Given the description of an element on the screen output the (x, y) to click on. 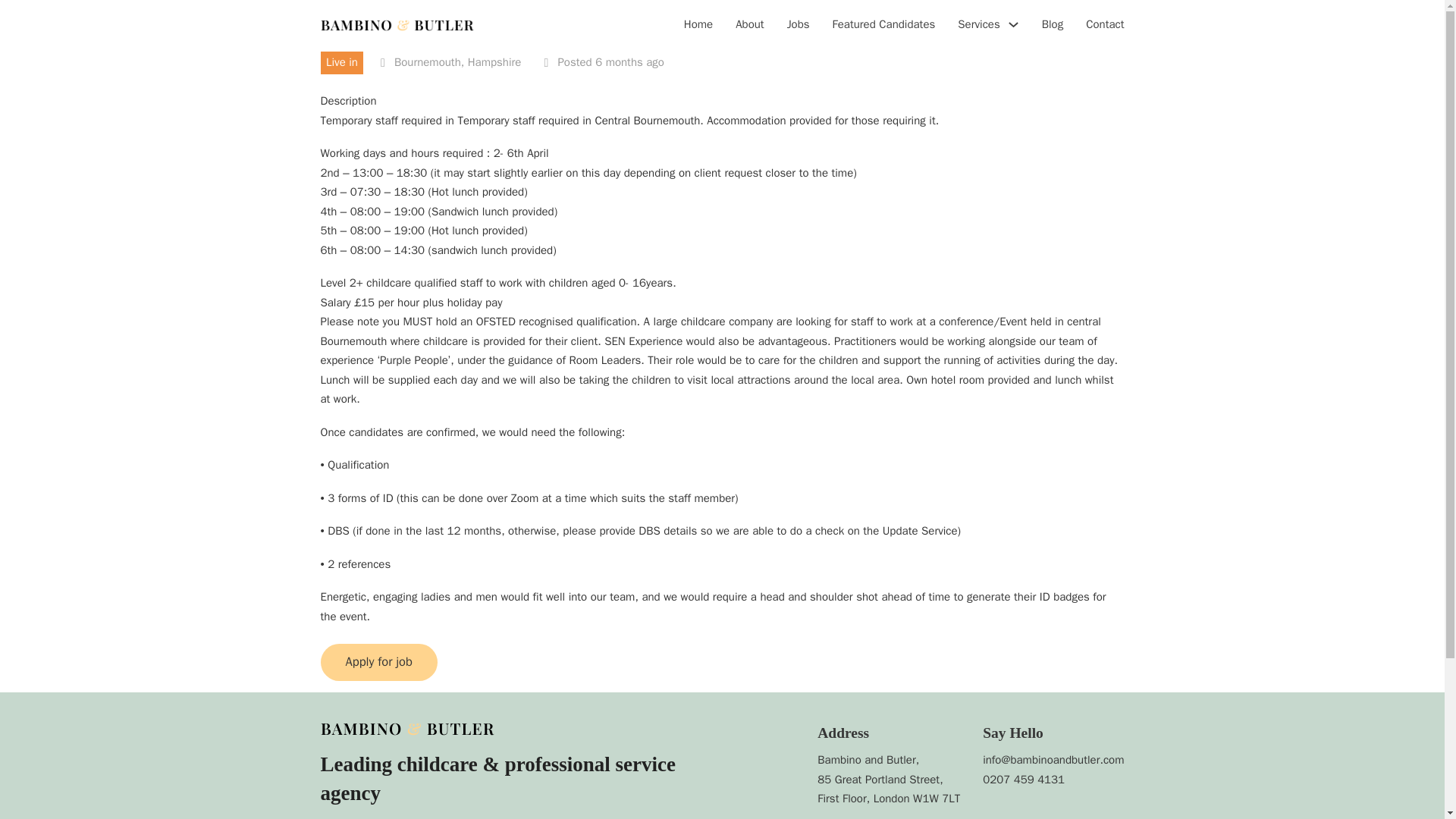
Featured Candidates (884, 25)
Bournemouth, Hampshire (457, 61)
Home (698, 25)
Blog (1052, 25)
Apply for job (378, 661)
About (748, 25)
Services (978, 25)
Contact (1105, 25)
Jobs (798, 25)
